Given the description of an element on the screen output the (x, y) to click on. 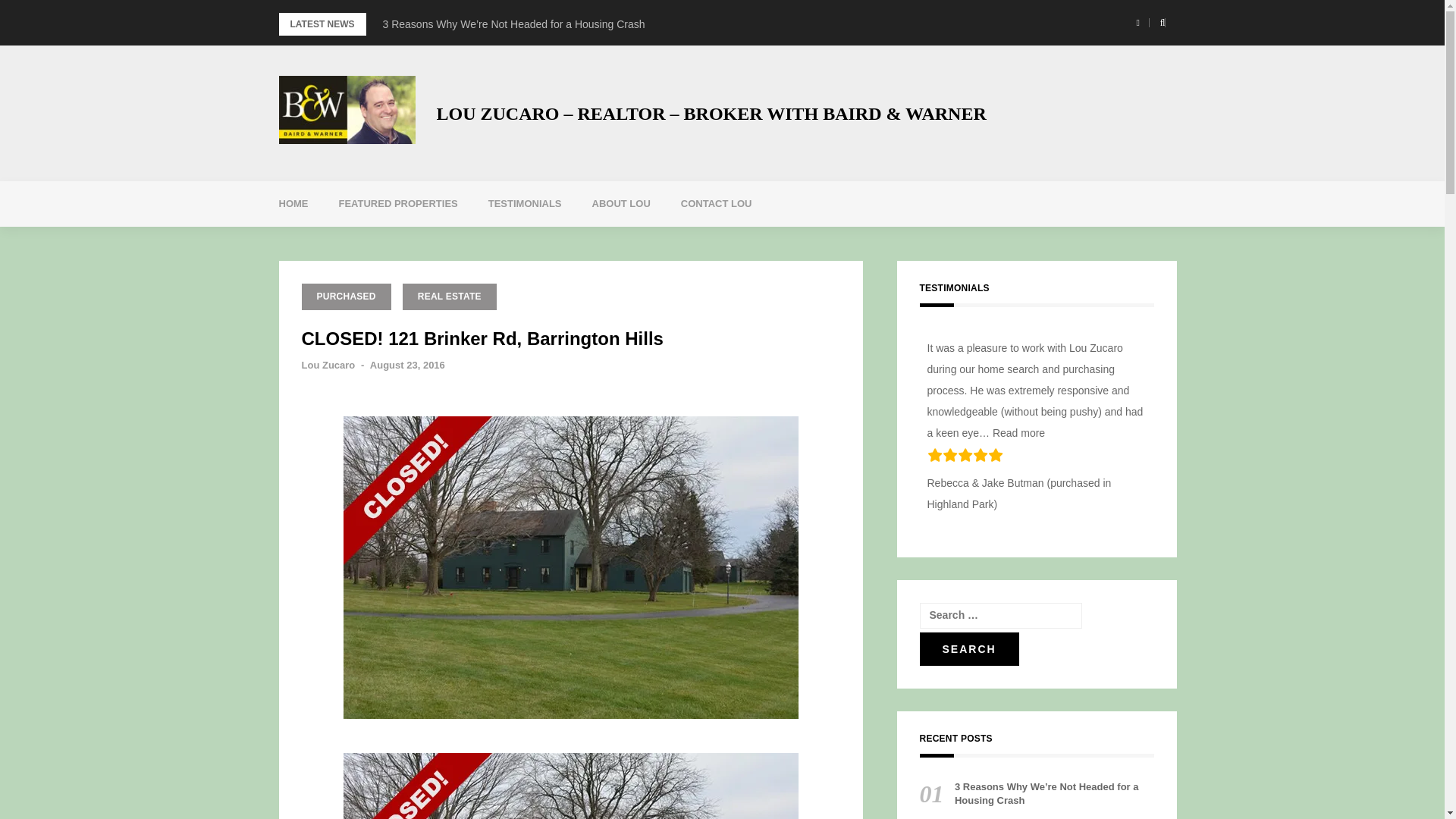
Search (967, 648)
ABOUT LOU (620, 203)
Featured Properties (397, 203)
Lou Zucaro (328, 365)
HOME (293, 203)
Search (967, 648)
FEATURED PROPERTIES (397, 203)
CONTACT LOU (716, 203)
REAL ESTATE (449, 296)
Home (293, 203)
TESTIMONIALS (524, 203)
PURCHASED (346, 296)
Testimonials (524, 203)
August 23, 2016 (407, 365)
